Given the description of an element on the screen output the (x, y) to click on. 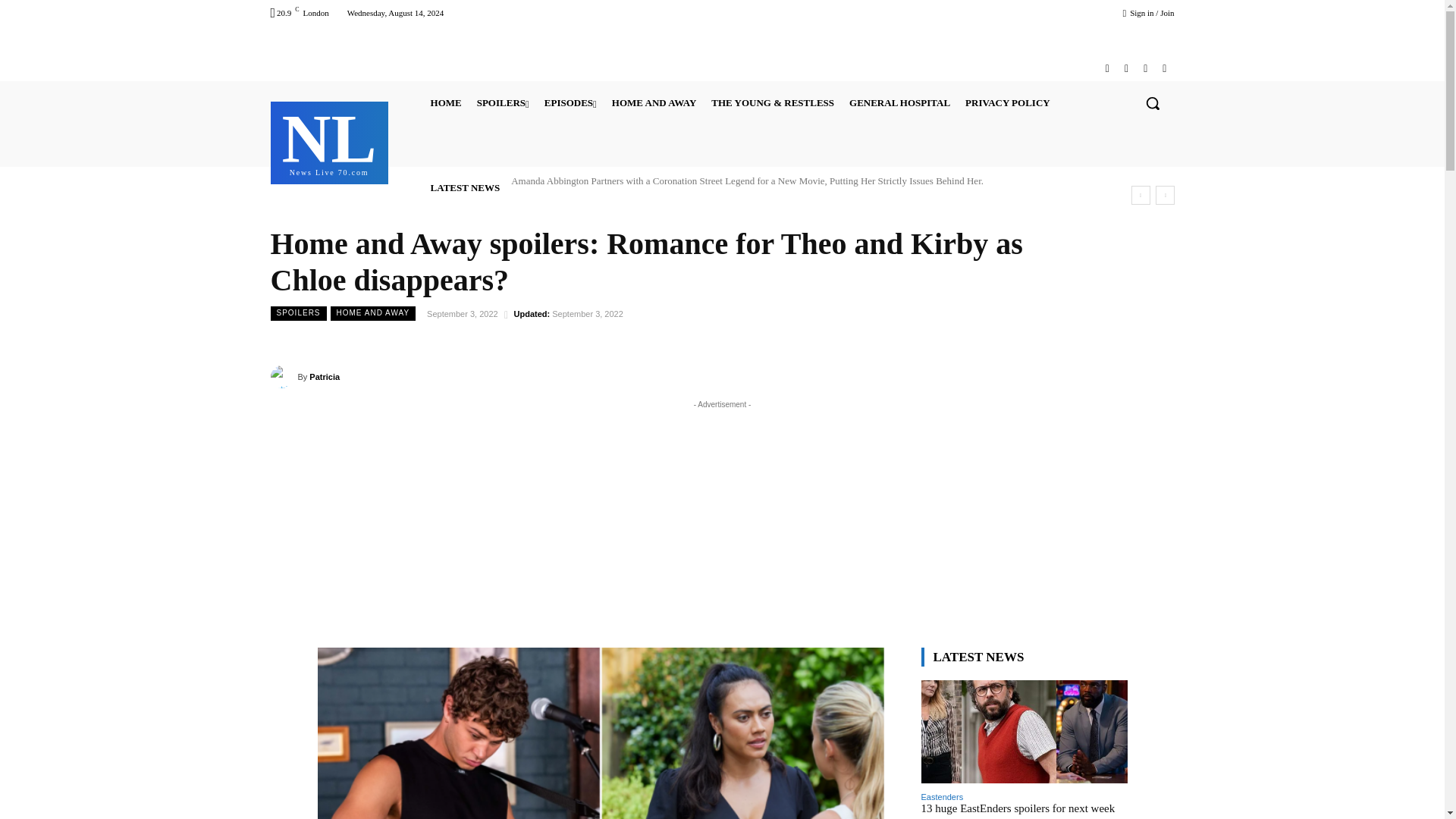
SPOILERS (502, 102)
HOME (446, 102)
HOME AND AWAY (653, 102)
Facebook (1106, 67)
EPISODES (329, 140)
